Given the description of an element on the screen output the (x, y) to click on. 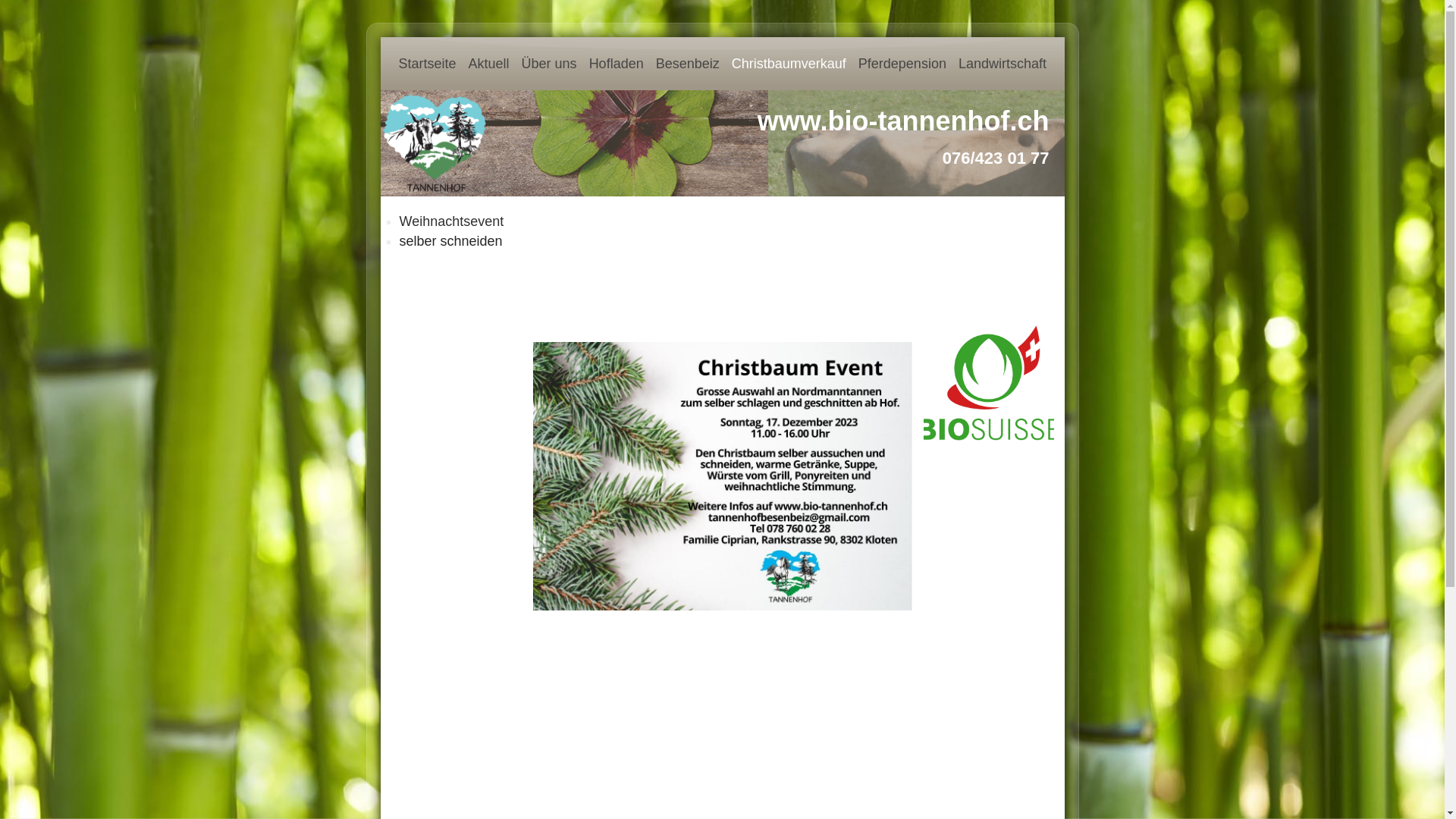
Startseite Element type: text (427, 63)
Aktuell Element type: text (488, 63)
Pferdepension Element type: text (902, 63)
Hofladen Element type: text (616, 63)
Besenbeiz Element type: text (687, 63)
Landwirtschaft Element type: text (1002, 63)
Christbaumverkauf Element type: text (788, 63)
Weihnachtsevent Element type: text (461, 221)
selber schneiden Element type: text (461, 241)
